Given the description of an element on the screen output the (x, y) to click on. 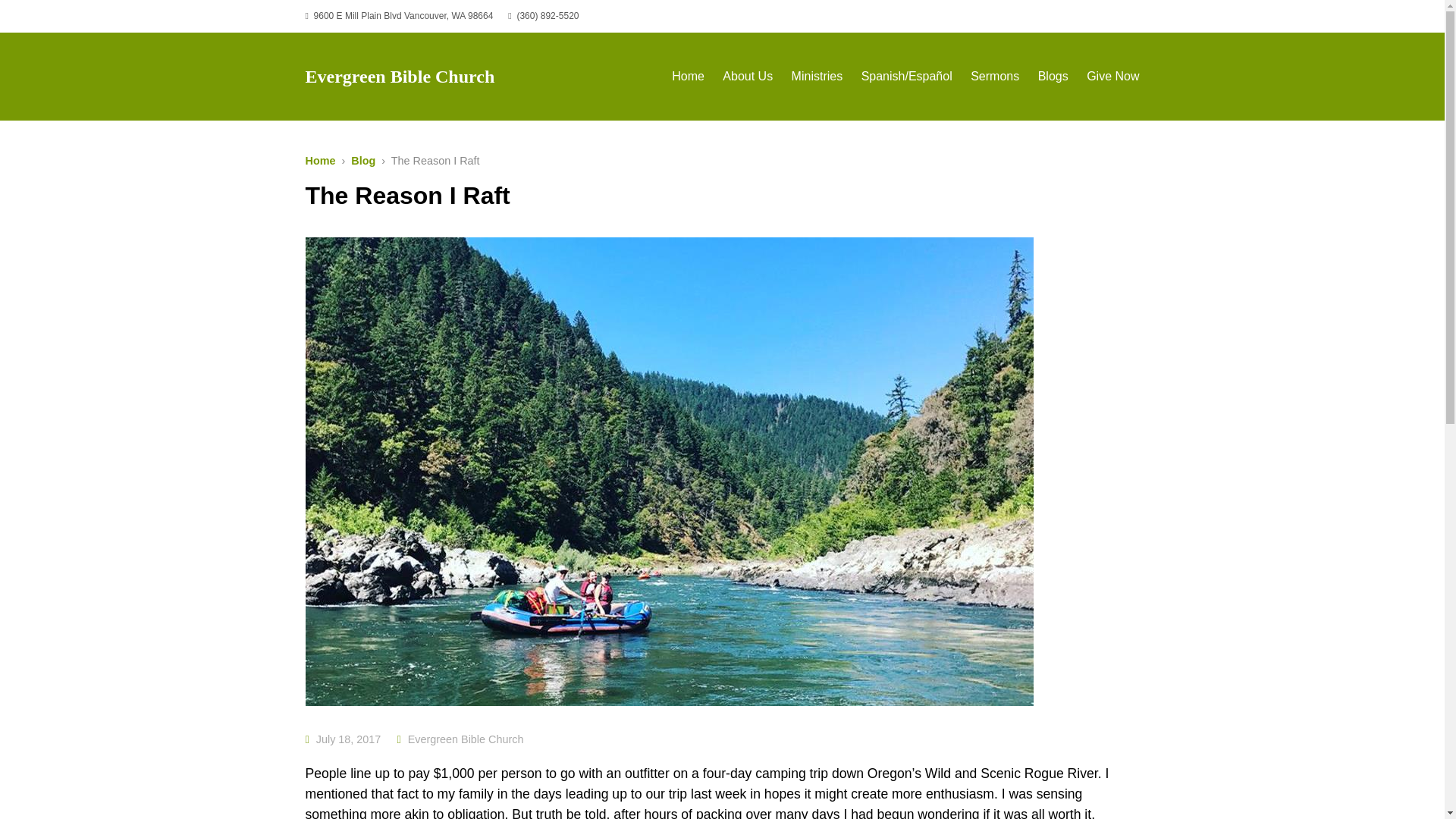
Posts by Evergreen Bible Church (465, 739)
